Given the description of an element on the screen output the (x, y) to click on. 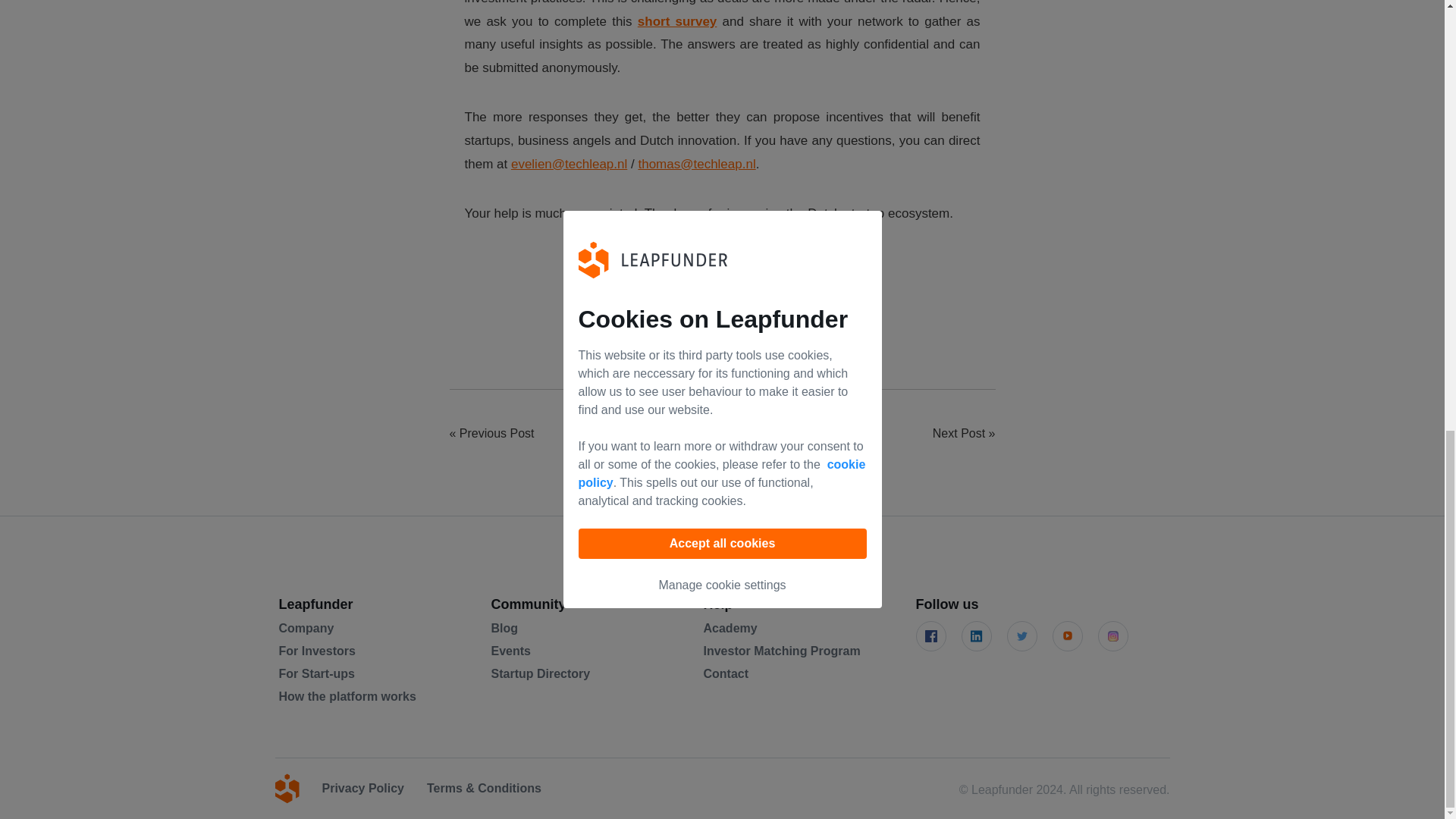
Company (306, 627)
For Investors (317, 650)
short survey (677, 21)
